Given the description of an element on the screen output the (x, y) to click on. 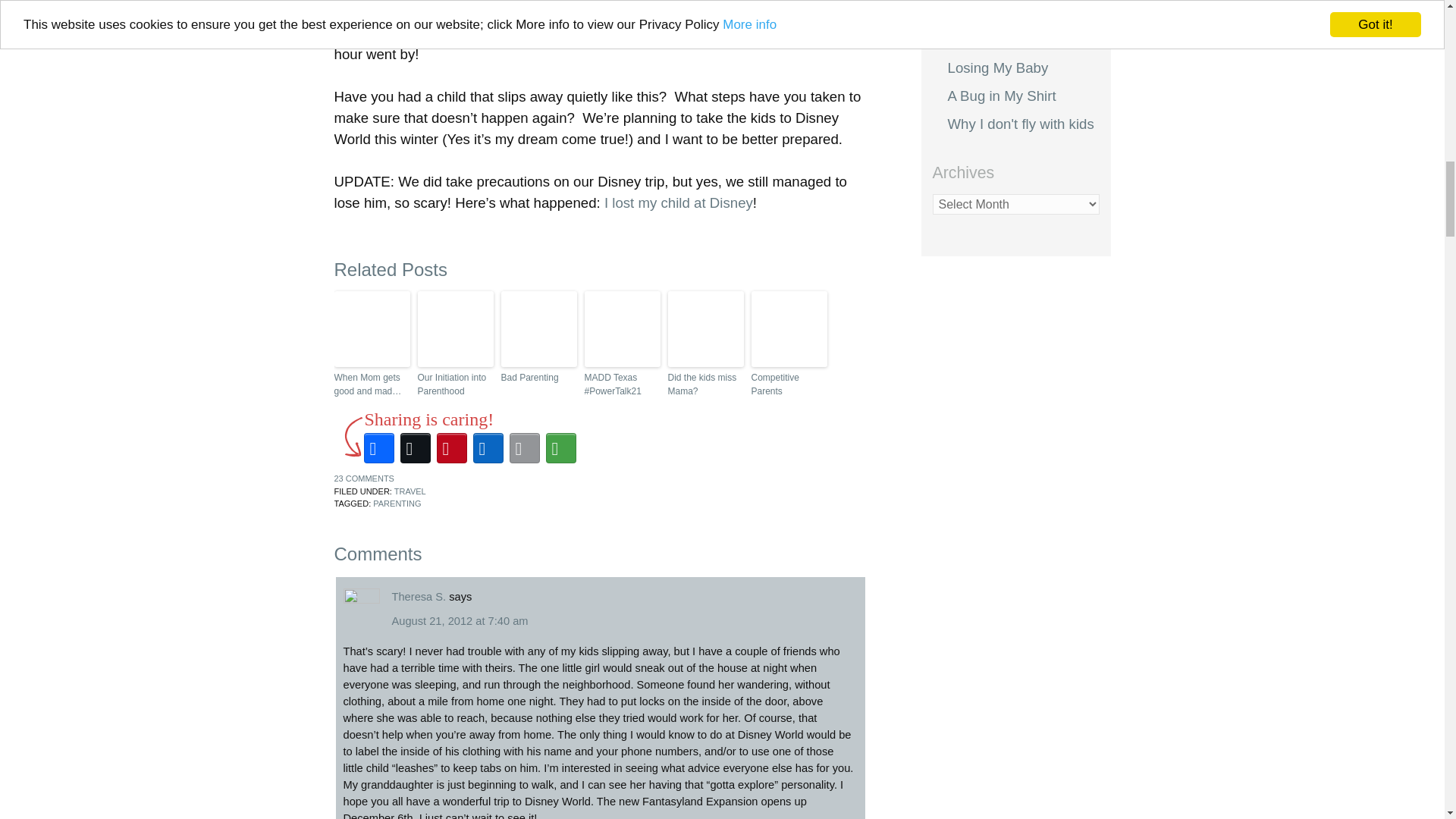
Pinterest (451, 447)
More Options (561, 447)
LinkedIn (488, 447)
Facebook (379, 447)
Email This (524, 447)
